Given the description of an element on the screen output the (x, y) to click on. 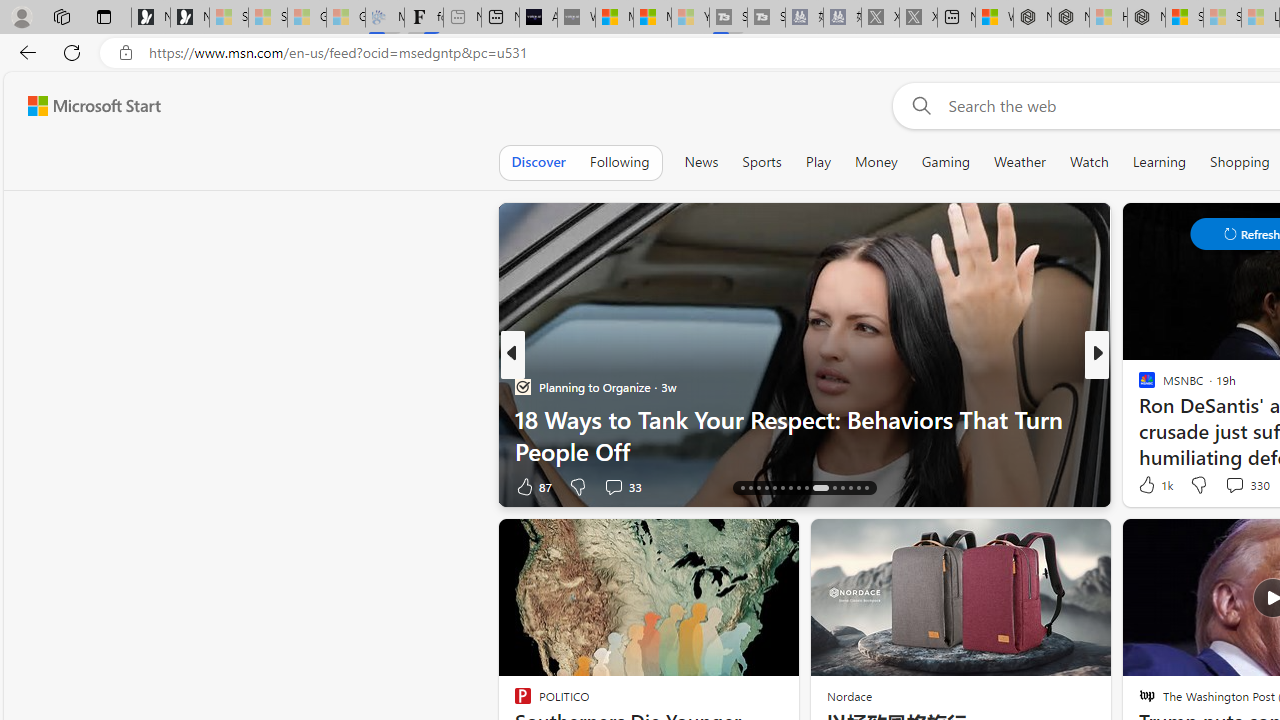
Watch (1089, 162)
497 Like (1151, 486)
View comments 96 Comment (1244, 486)
View comments 33 Comment (622, 486)
Personal Profile (21, 16)
View comments 6 Comment (11, 485)
View comments 353 Comment (11, 485)
AutomationID: tab-19 (765, 487)
View comments 330 Comment (1234, 485)
Wildlife - MSN (993, 17)
